Given the description of an element on the screen output the (x, y) to click on. 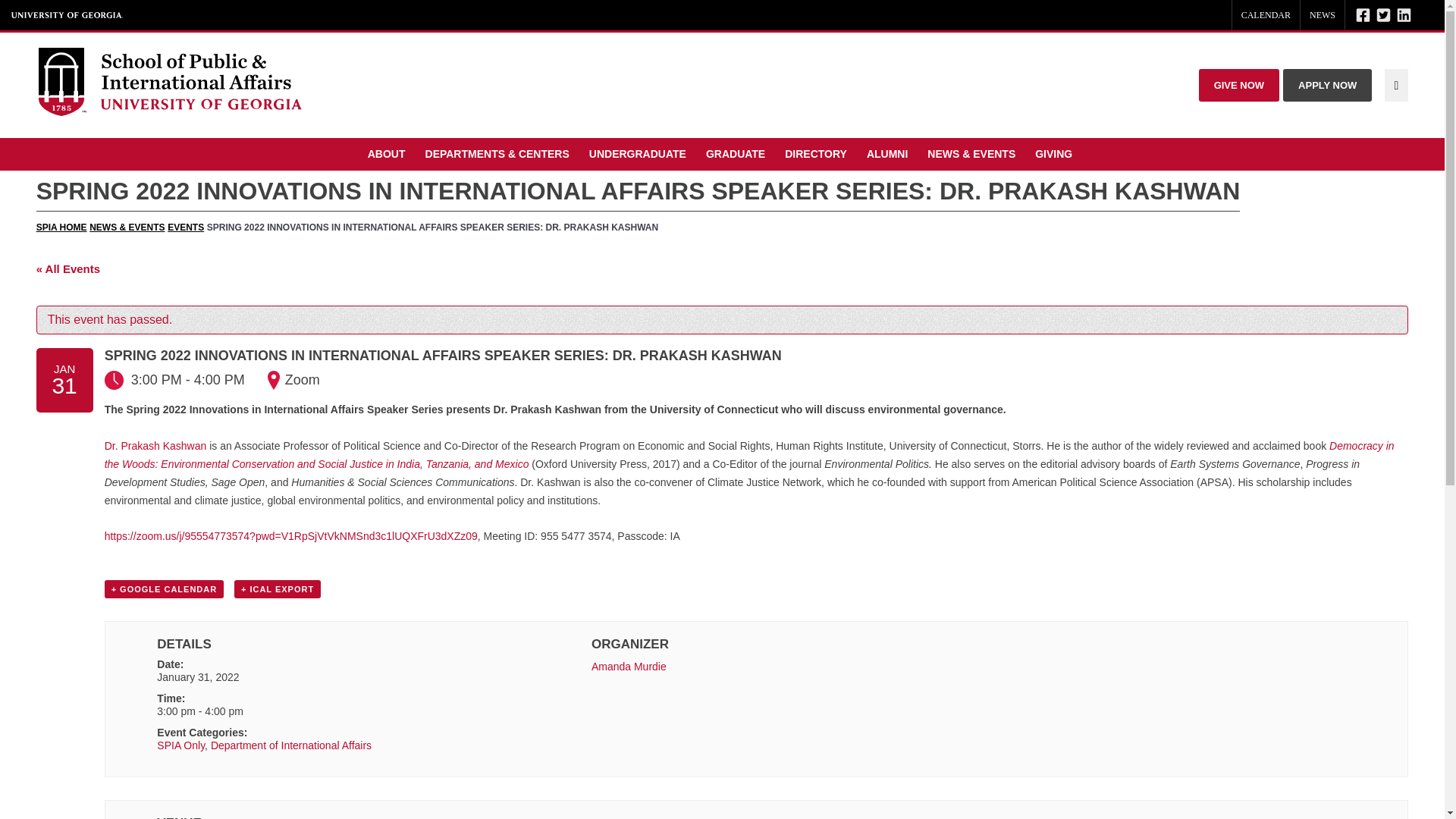
2022-01-31 (197, 676)
Add to Google Calendar (164, 588)
FACEBOOK (1363, 14)
CALENDAR (1265, 15)
Download .ics file (277, 588)
APPLY NOW (1326, 84)
LINKEDIN (1403, 14)
Submit (1427, 15)
TWITTER (1383, 14)
GIVE NOW (1238, 84)
UNDERGRADUATE (639, 154)
ABOUT (388, 154)
NEWS (1321, 15)
TWITTER (1383, 14)
